Given the description of an element on the screen output the (x, y) to click on. 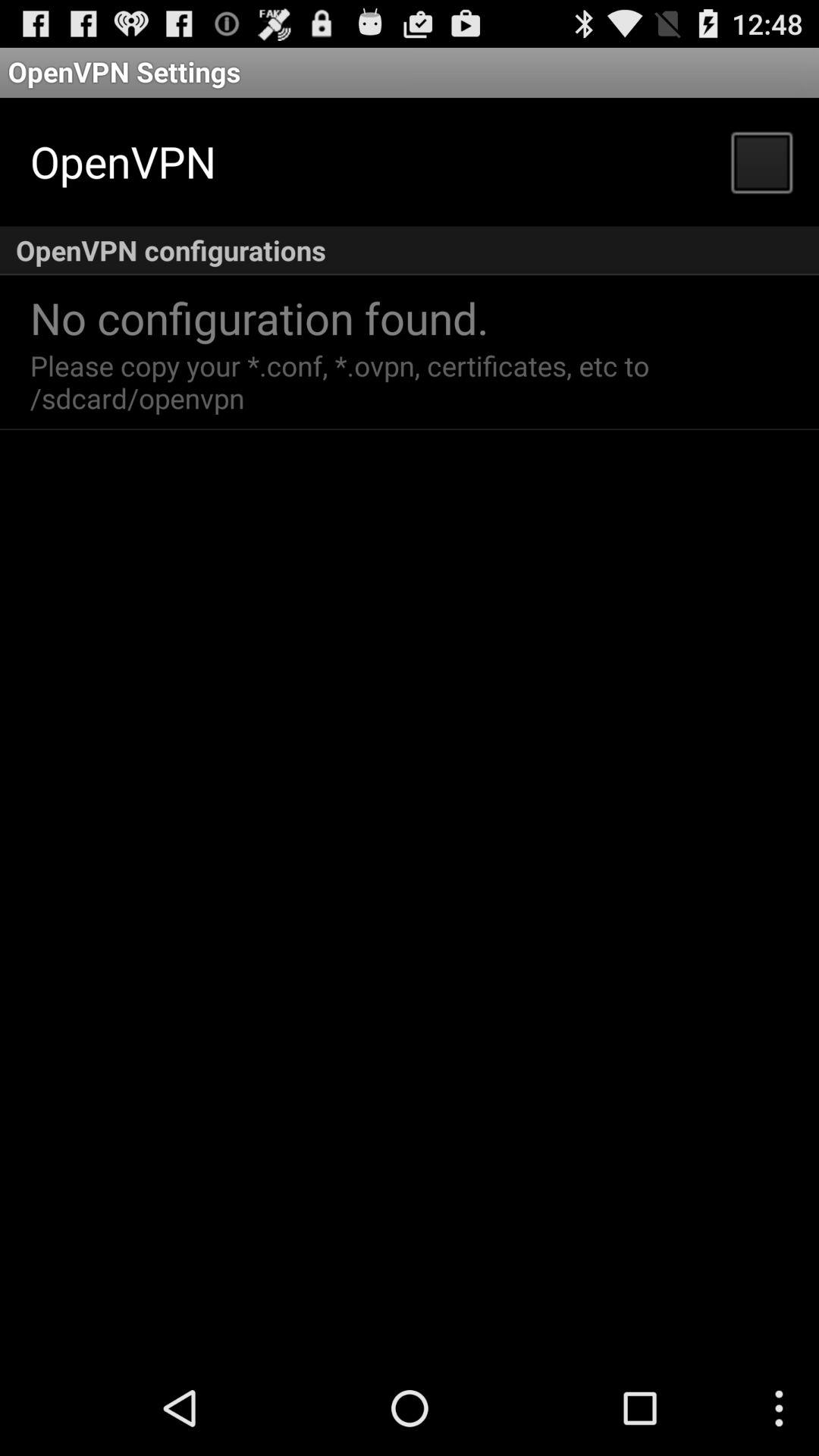
press please copy your (344, 381)
